Given the description of an element on the screen output the (x, y) to click on. 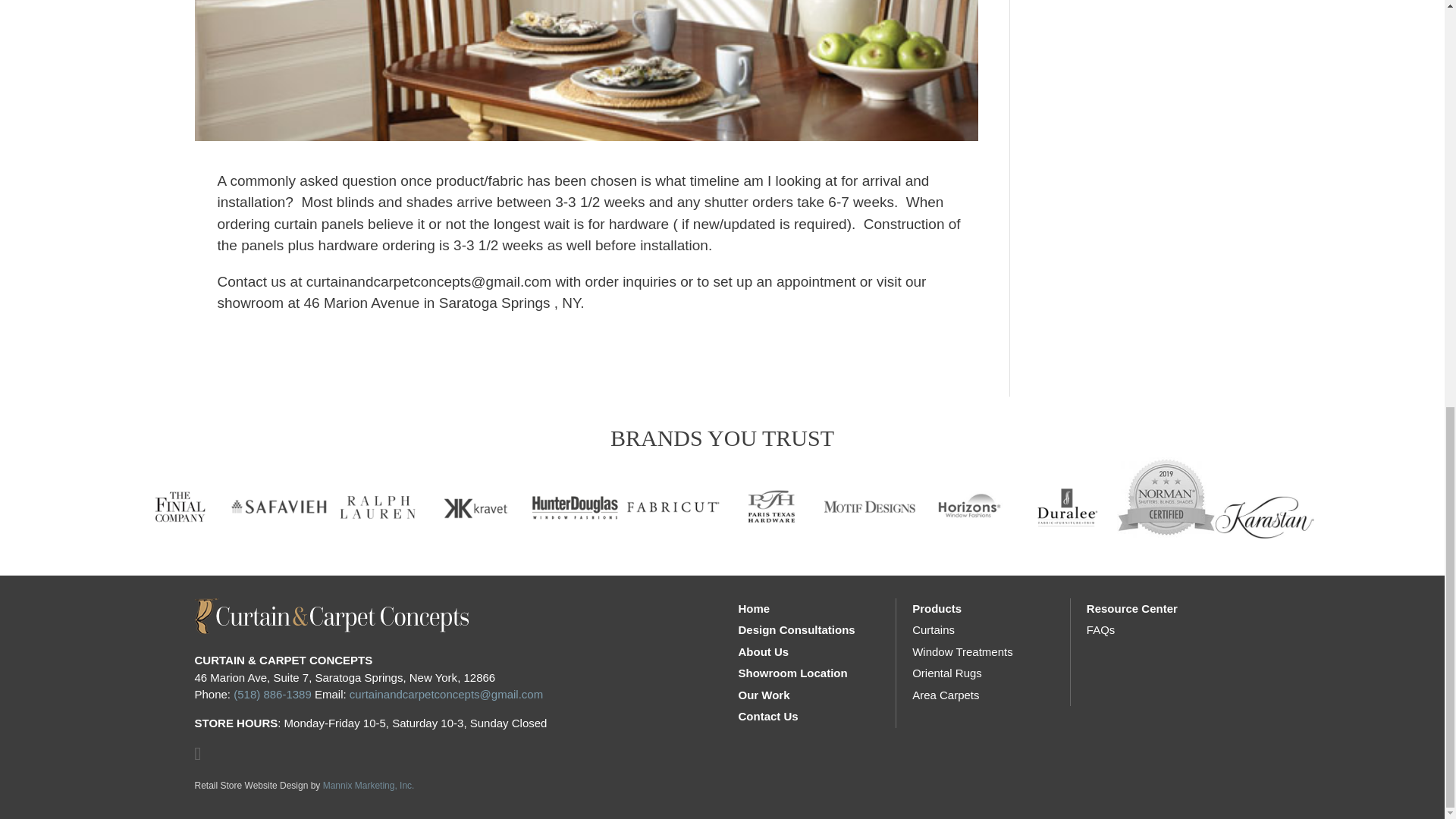
FAQs (1100, 629)
Resource Center (1131, 608)
Products (936, 608)
Curtains (933, 629)
